Given the description of an element on the screen output the (x, y) to click on. 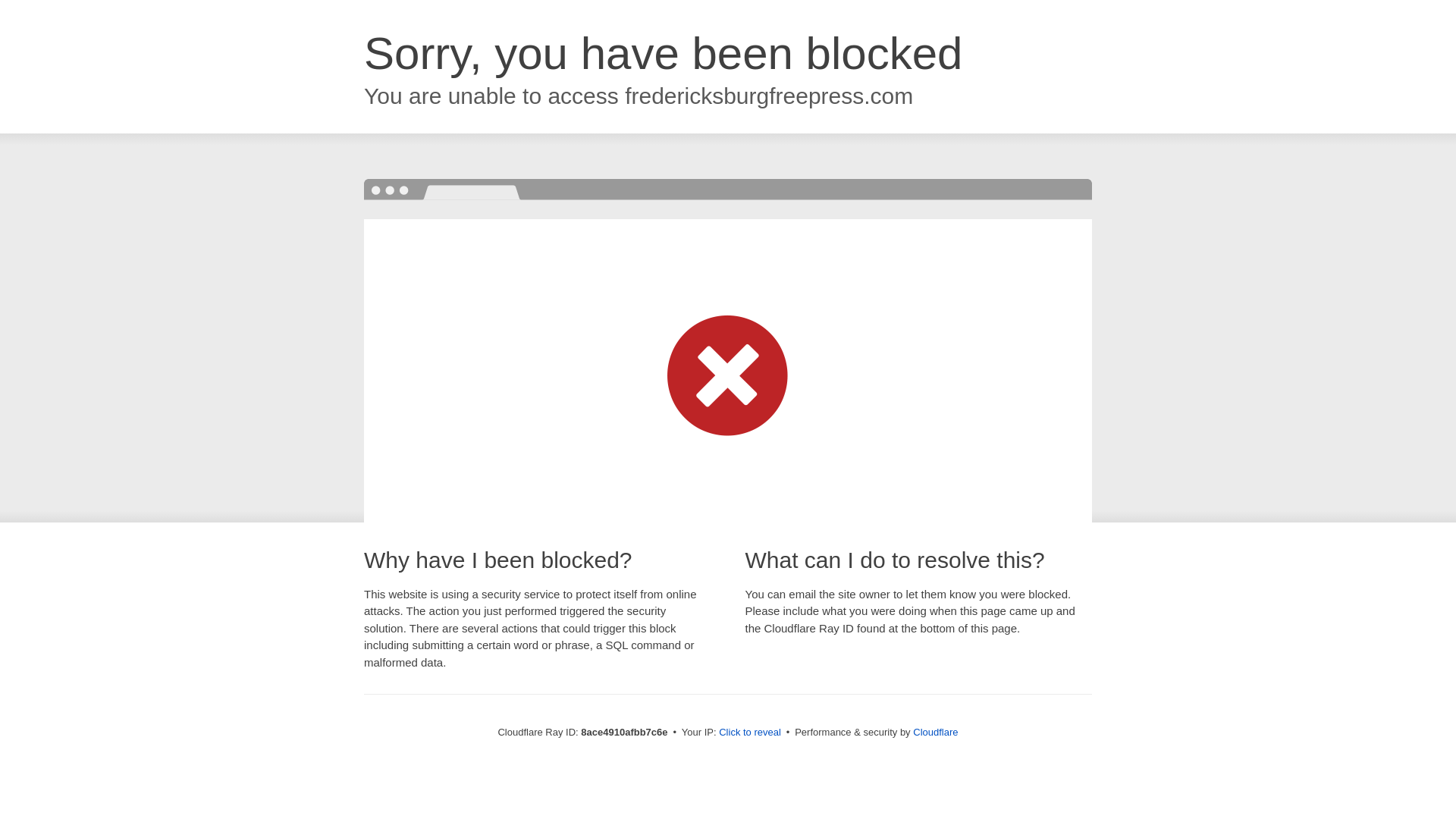
Cloudflare (935, 731)
Click to reveal (749, 732)
